Given the description of an element on the screen output the (x, y) to click on. 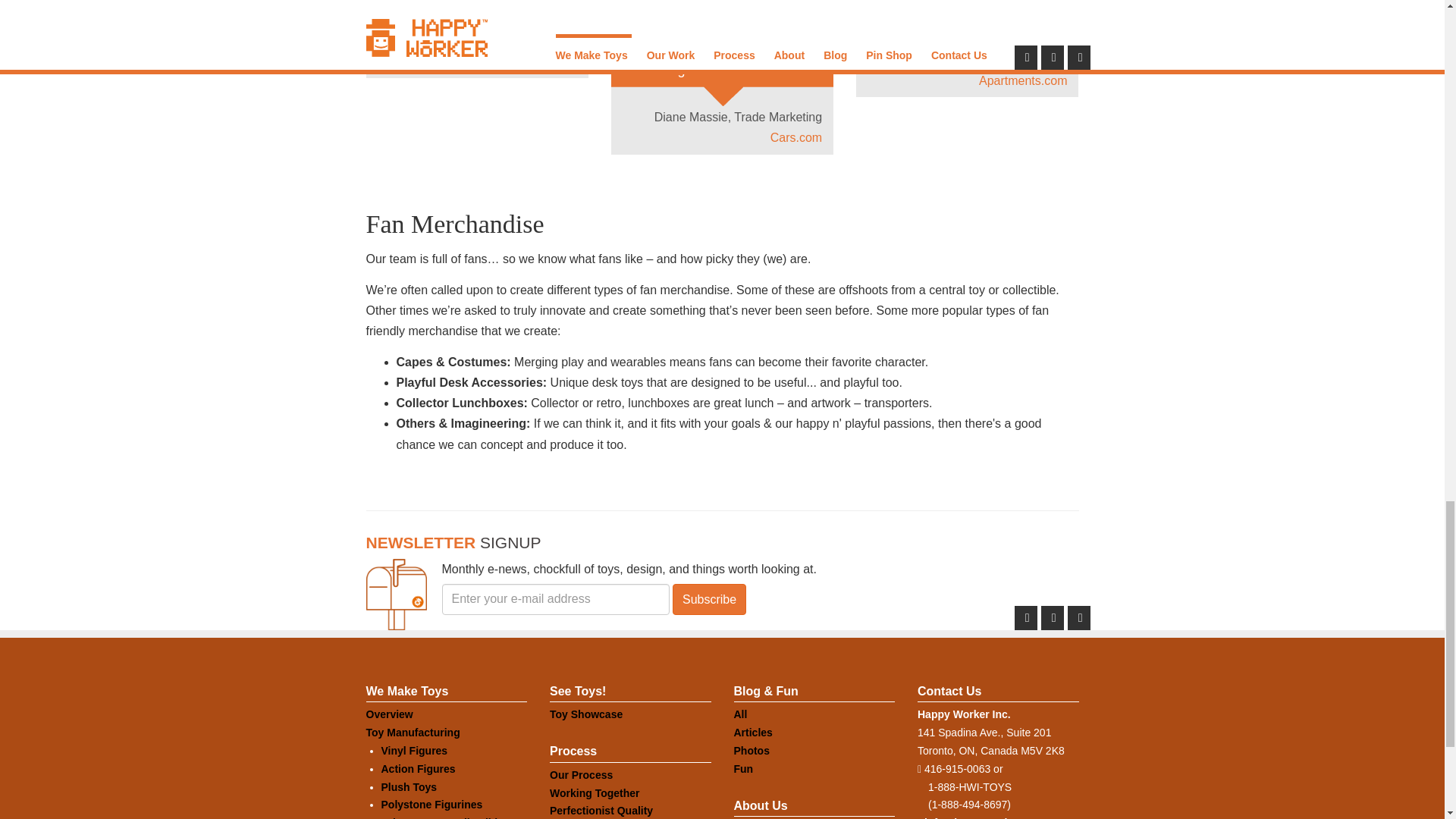
Subscribe (708, 599)
